Given the description of an element on the screen output the (x, y) to click on. 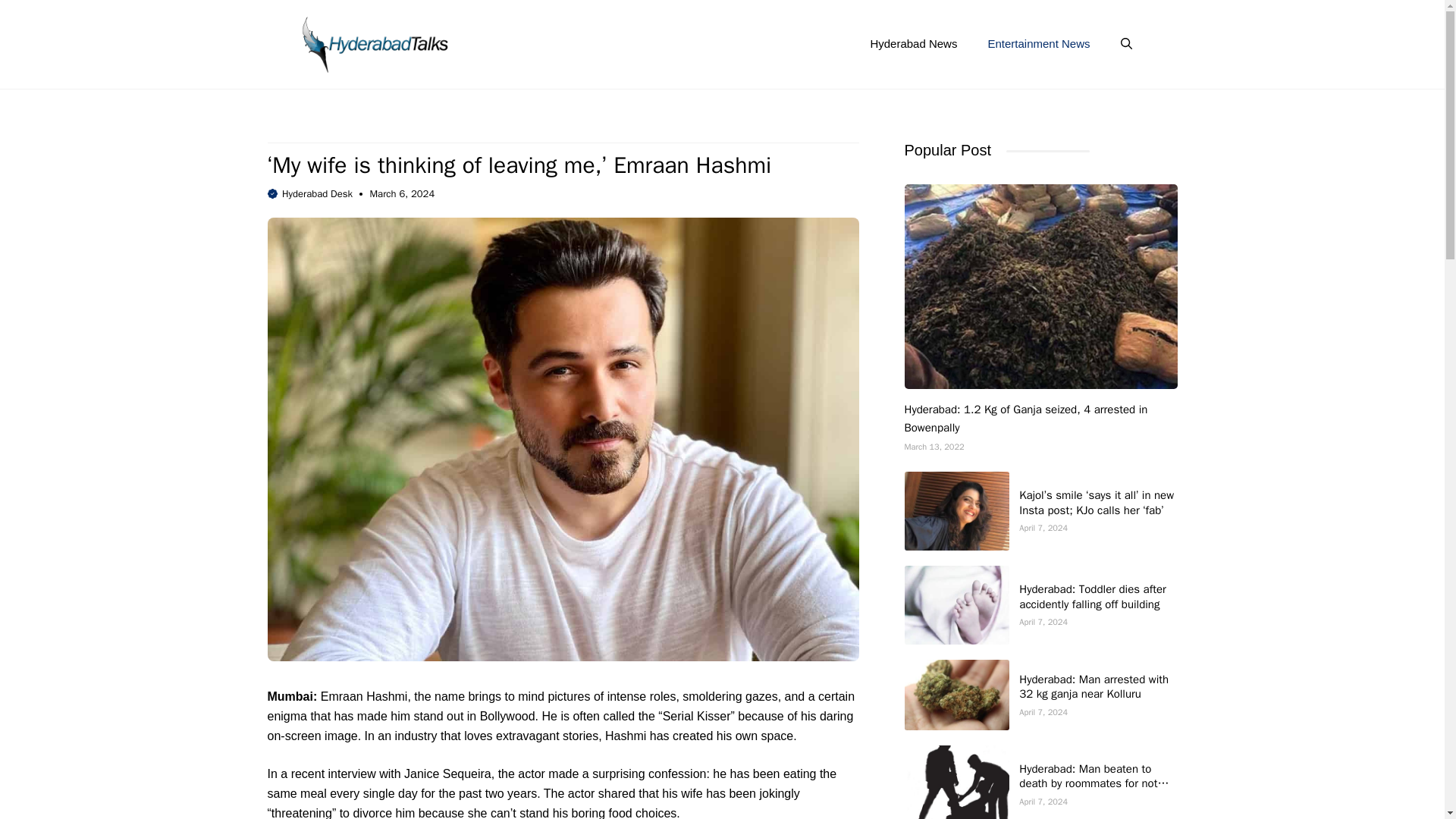
Hyderabad Desk (317, 193)
Hyderabad: Man arrested with 32 kg ganja near Kolluru (1094, 686)
Hyderabad: 1.2 Kg of Ganja seized, 4 arrested in Bowenpally (1025, 418)
Entertainment News (1038, 43)
Hyderabad News (913, 43)
